Given the description of an element on the screen output the (x, y) to click on. 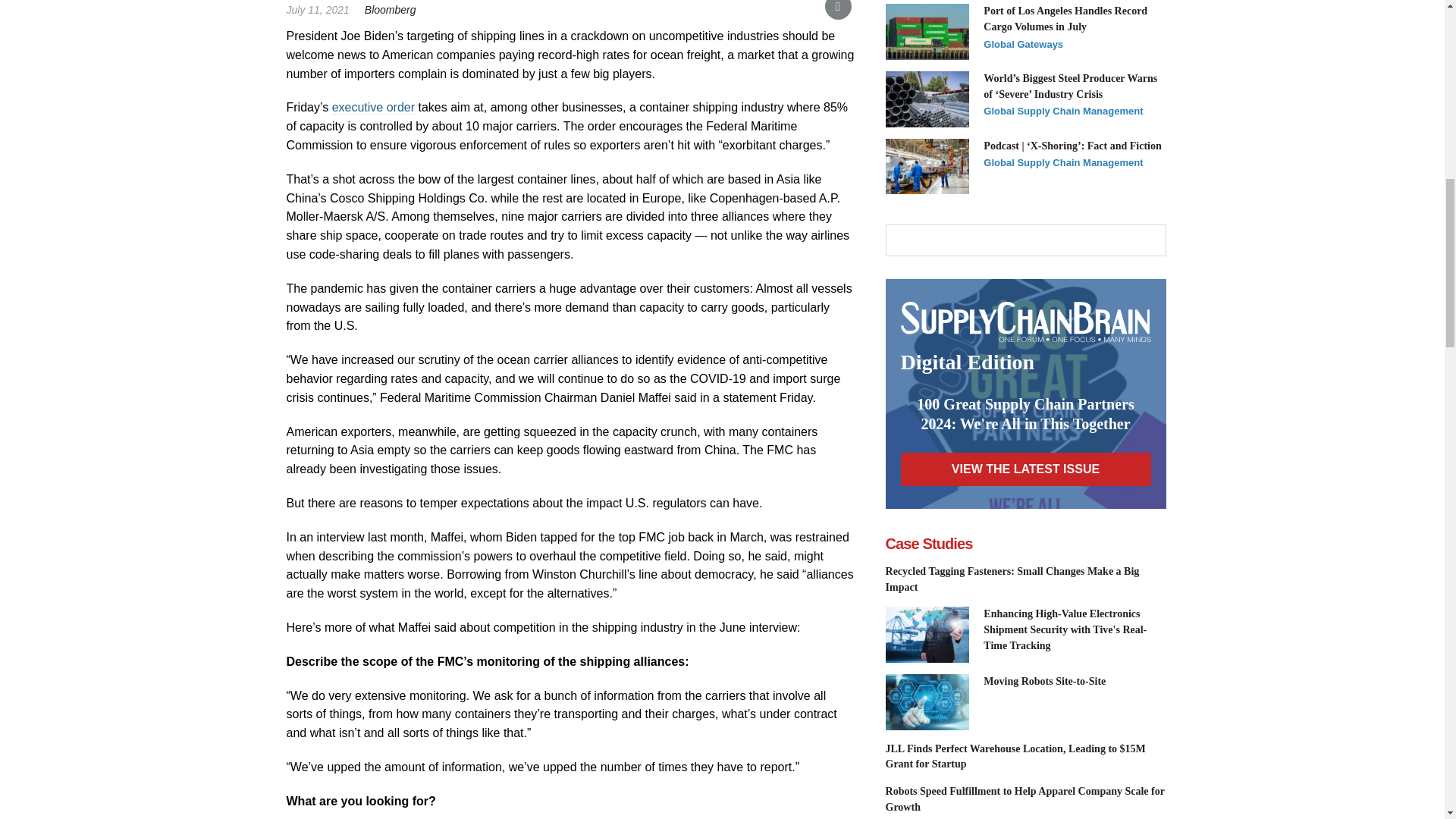
P66 EXOTEC.jpg (927, 702)
china-steel-bloomberg-415015874.jpg (927, 99)
port-of-los-angeles-containers-iStock-1464272153.jpg (927, 31)
CHINA CAR MANUFACTURING iStock- Jenson -1141363948.jpg (927, 166)
P65 TIVE.jpg (927, 634)
